Given the description of an element on the screen output the (x, y) to click on. 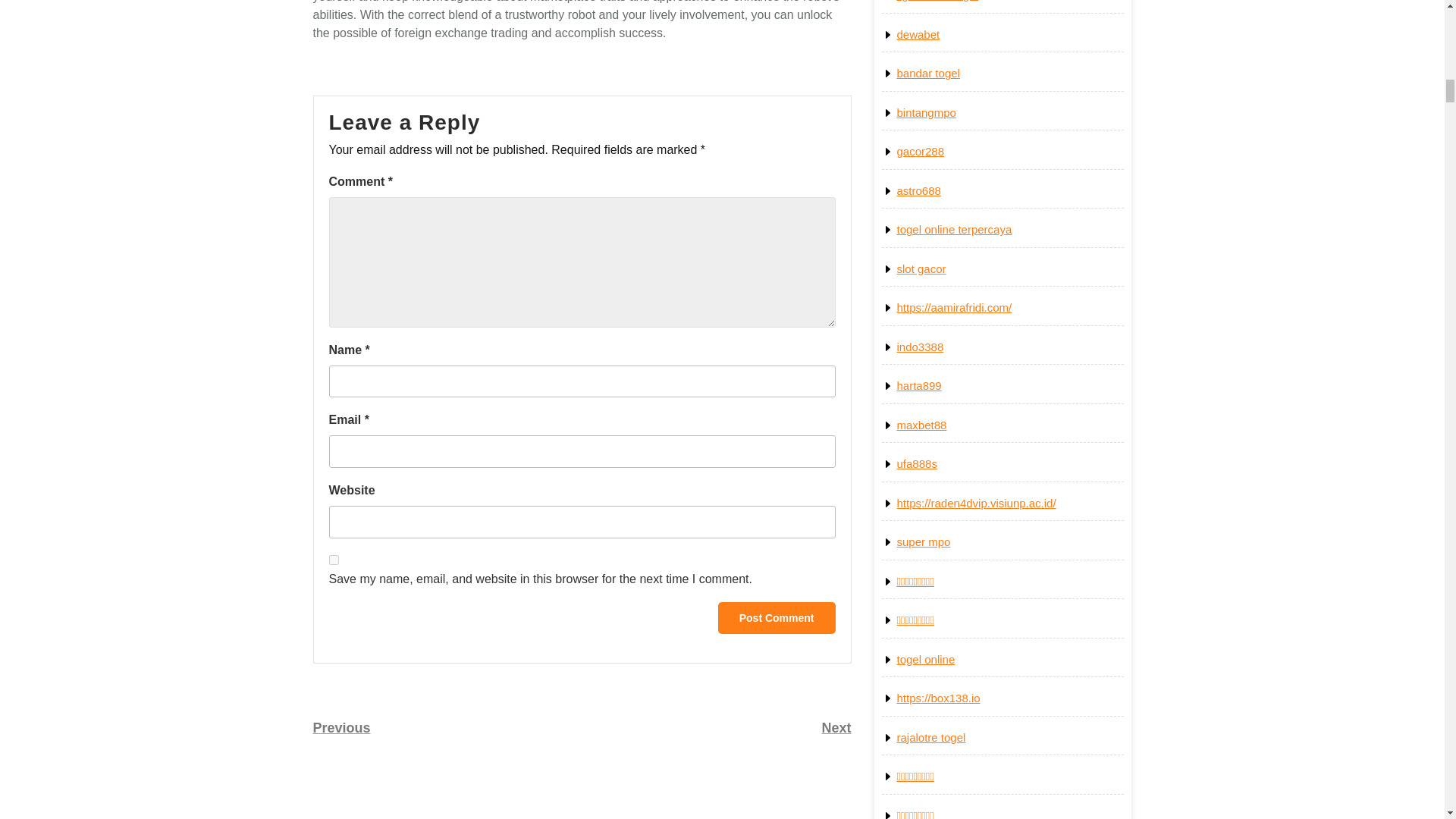
Post Comment (776, 617)
yes (446, 728)
Post Comment (716, 728)
